Given the description of an element on the screen output the (x, y) to click on. 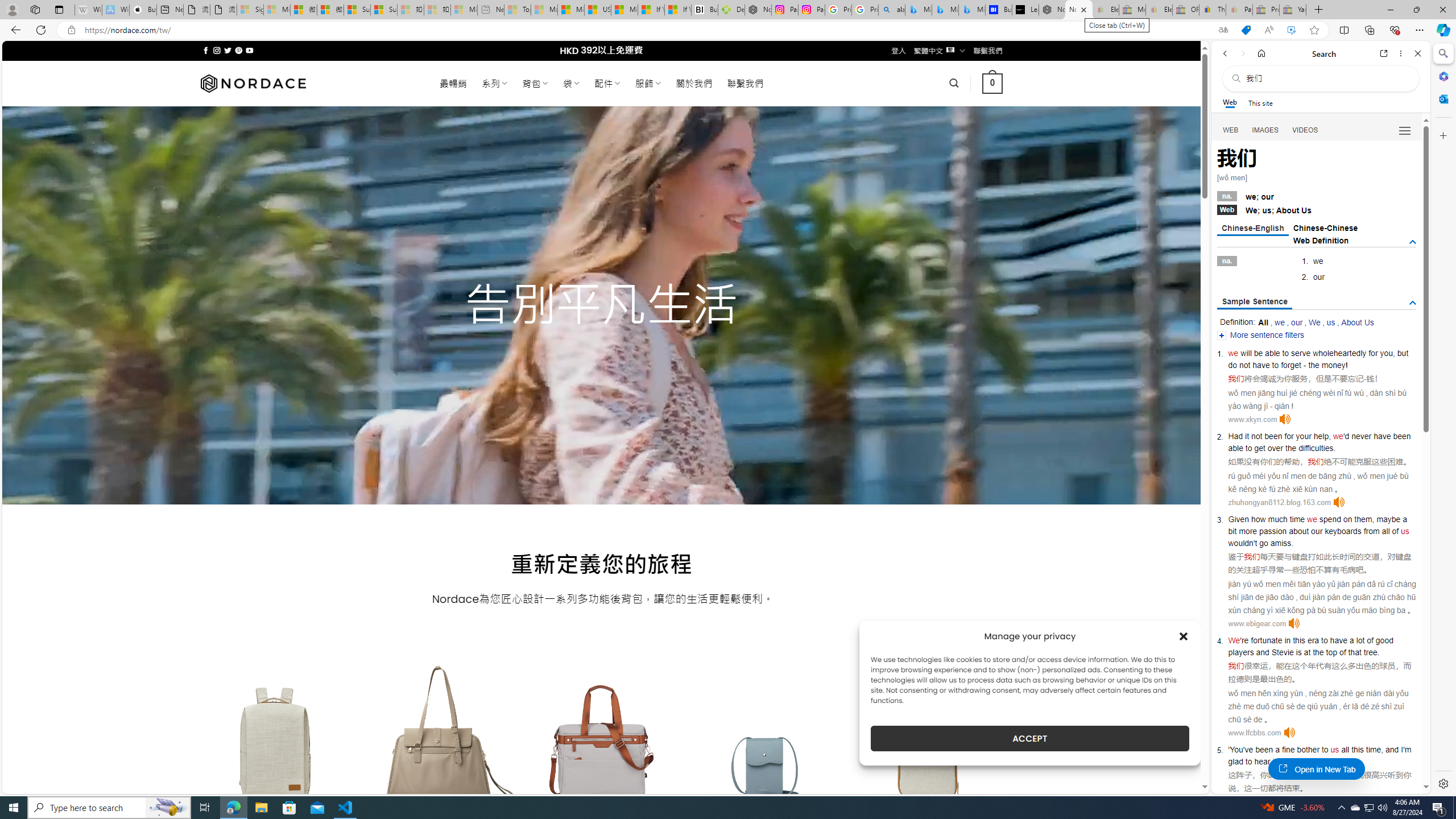
more (1248, 530)
of (1395, 530)
WebWe; us; About Us (1316, 209)
for (1372, 352)
zhuhongyan8112.blog.163.com (1278, 501)
Chinese-Chinese (1325, 227)
not (1256, 435)
